Given the description of an element on the screen output the (x, y) to click on. 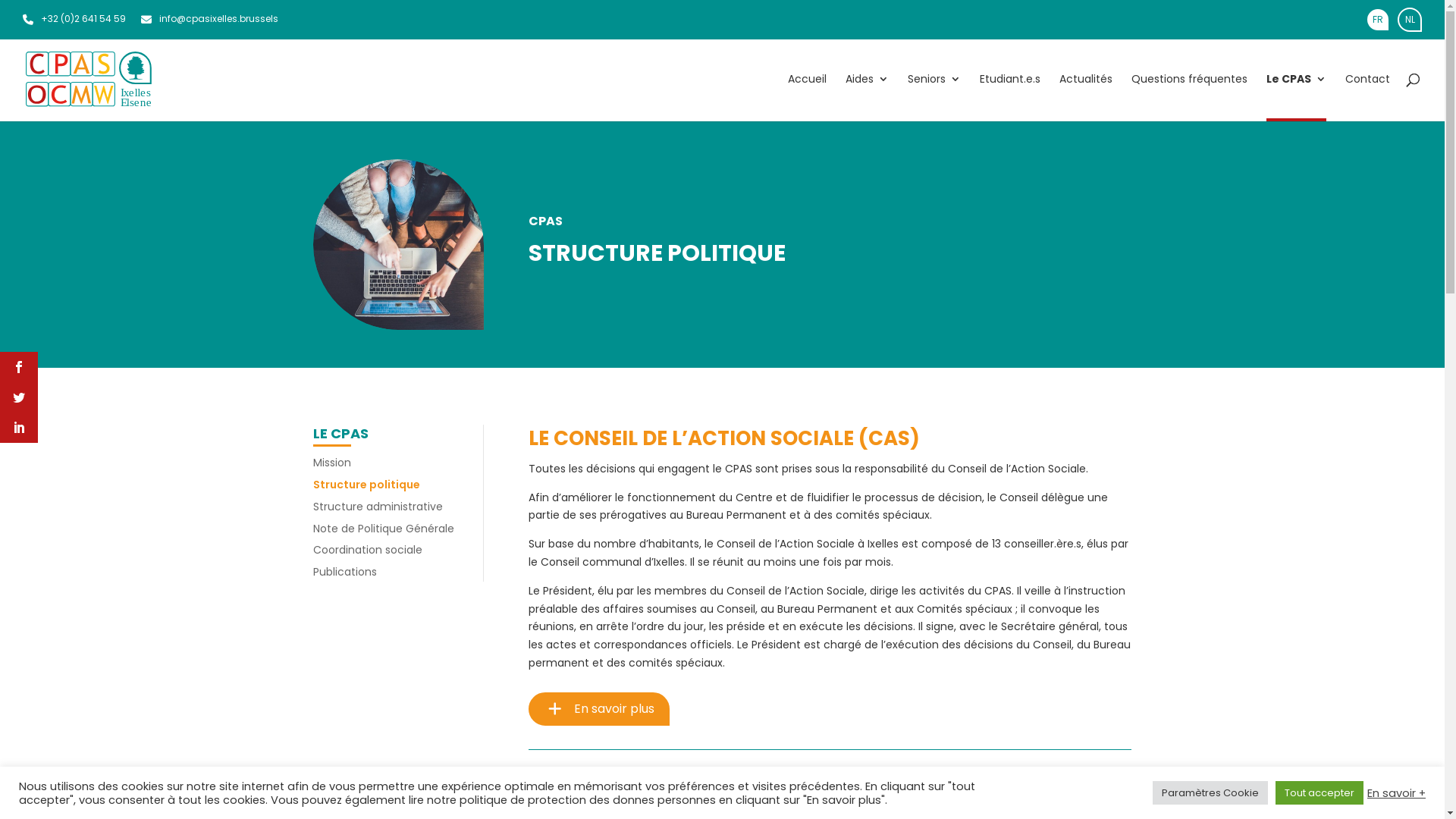
FR Element type: text (1377, 19)
Seniors Element type: text (933, 97)
+32 (0)2 641 54 59 Element type: text (73, 18)
Mission Element type: text (331, 462)
Aides Element type: text (866, 97)
En savoir plus Element type: text (598, 708)
Le CPAS Element type: text (1296, 97)
Structure administrative Element type: text (377, 506)
Publications Element type: text (344, 571)
structure politique Element type: hover (397, 244)
LE CPAS Element type: text (339, 433)
En savoir + Element type: text (1396, 792)
Accueil Element type: text (806, 97)
info@cpasixelles.brussels Element type: text (209, 18)
Contact Element type: text (1367, 97)
Tout accepter Element type: text (1319, 792)
NL Element type: text (1409, 19)
Structure politique Element type: text (365, 484)
Etudiant.e.s Element type: text (1009, 97)
Coordination sociale Element type: text (366, 549)
